Given the description of an element on the screen output the (x, y) to click on. 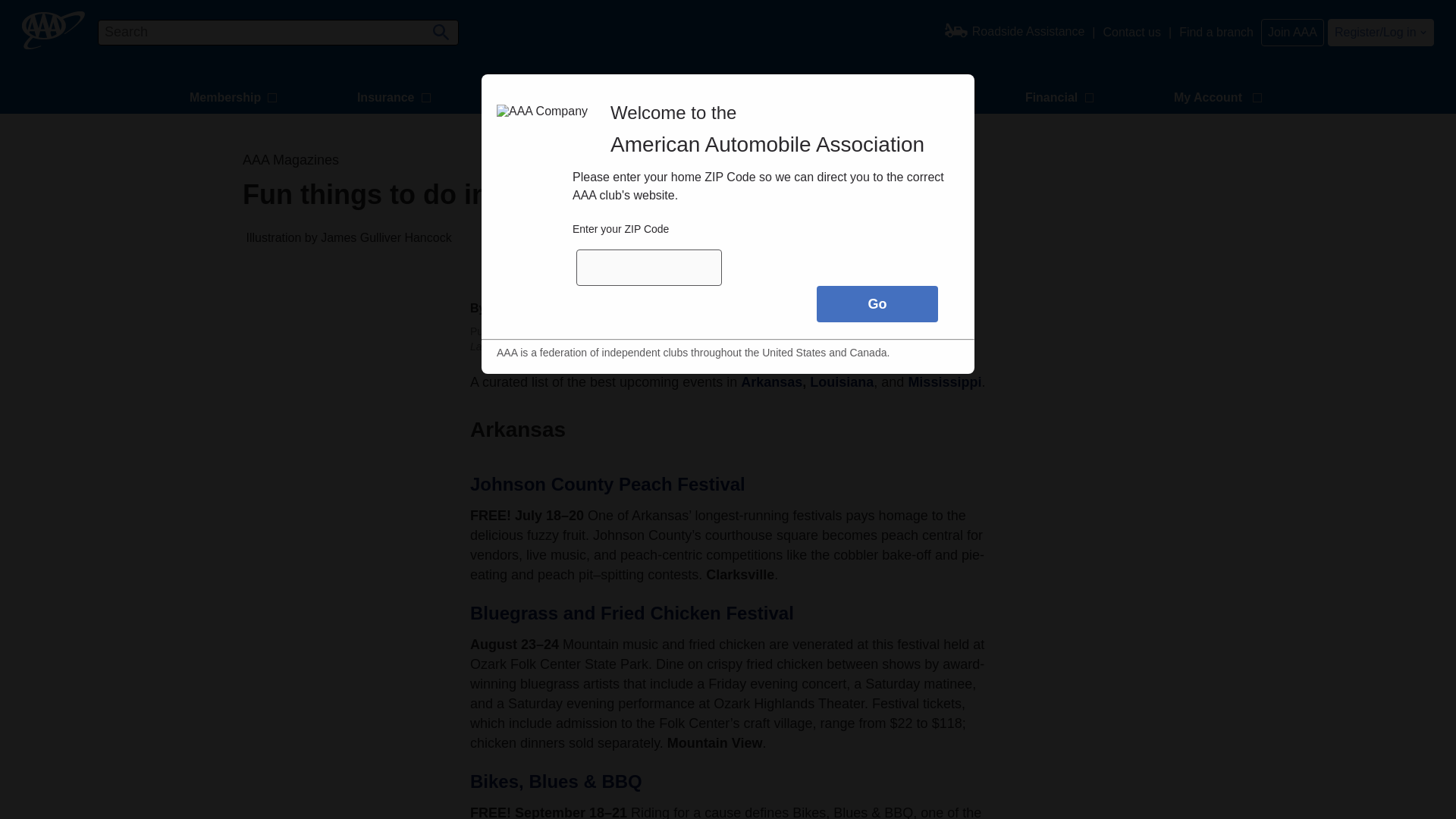
Membership (235, 98)
Financial (1061, 98)
Contact us (1130, 31)
Type search word (277, 32)
Insurance (395, 98)
Find a branch (1216, 31)
Johnson County Peach Festival (607, 484)
Automobile Club logo (52, 30)
Arkansas (771, 381)
Bluegrass and Fried Chicken Festival (631, 612)
Search (438, 26)
Travel (537, 98)
Join AAA (1291, 31)
My Account (1220, 98)
Louisiana (841, 381)
